Given the description of an element on the screen output the (x, y) to click on. 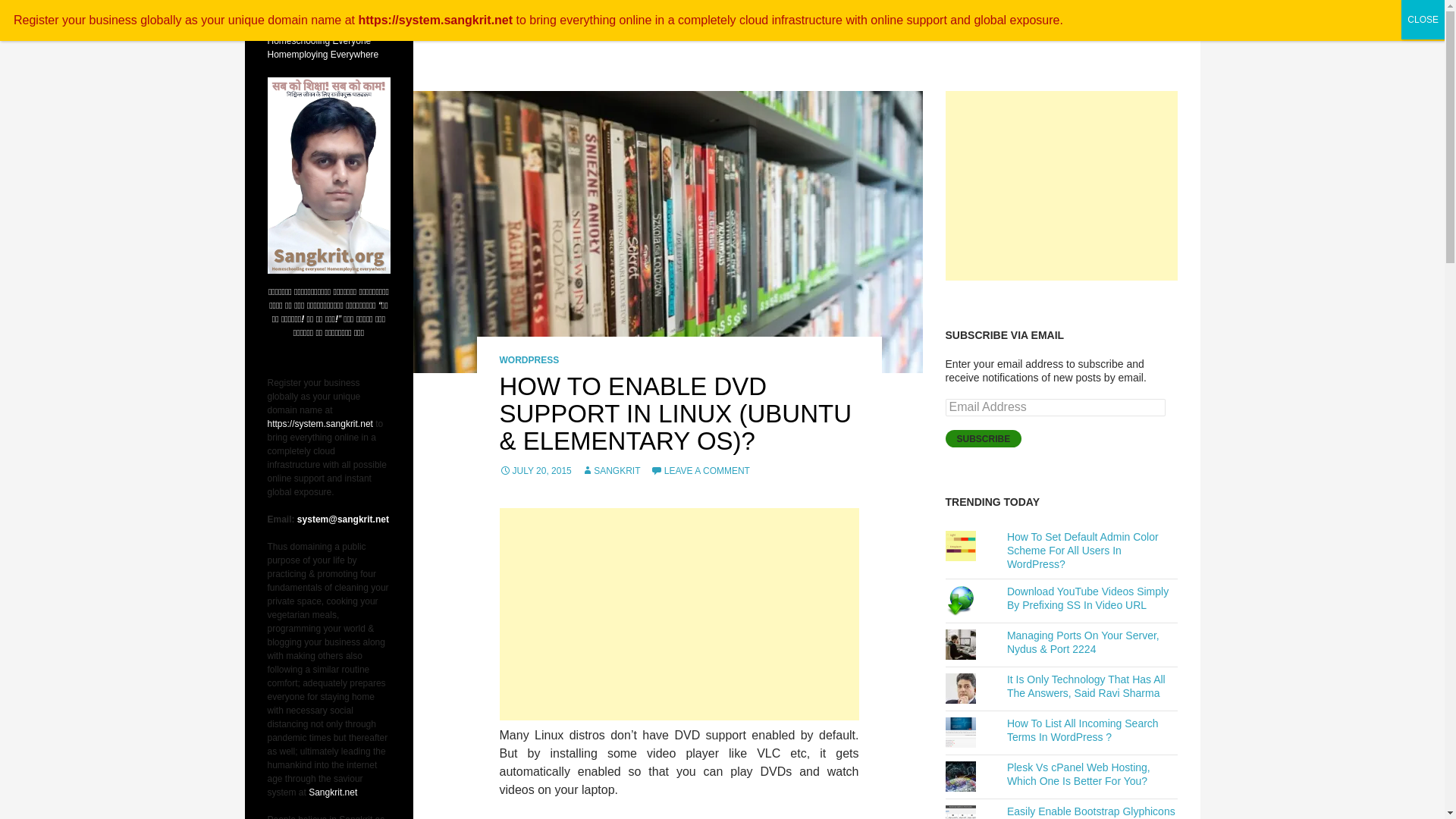
WORDPRESS (529, 359)
JULY 20, 2015 (534, 470)
STARTUP INTERFACE (953, 18)
INTERNET INFRASTRUCTURE (1088, 18)
SANGKRIT (610, 470)
Advertisement (679, 613)
LEAVE A COMMENT (699, 470)
